Given the description of an element on the screen output the (x, y) to click on. 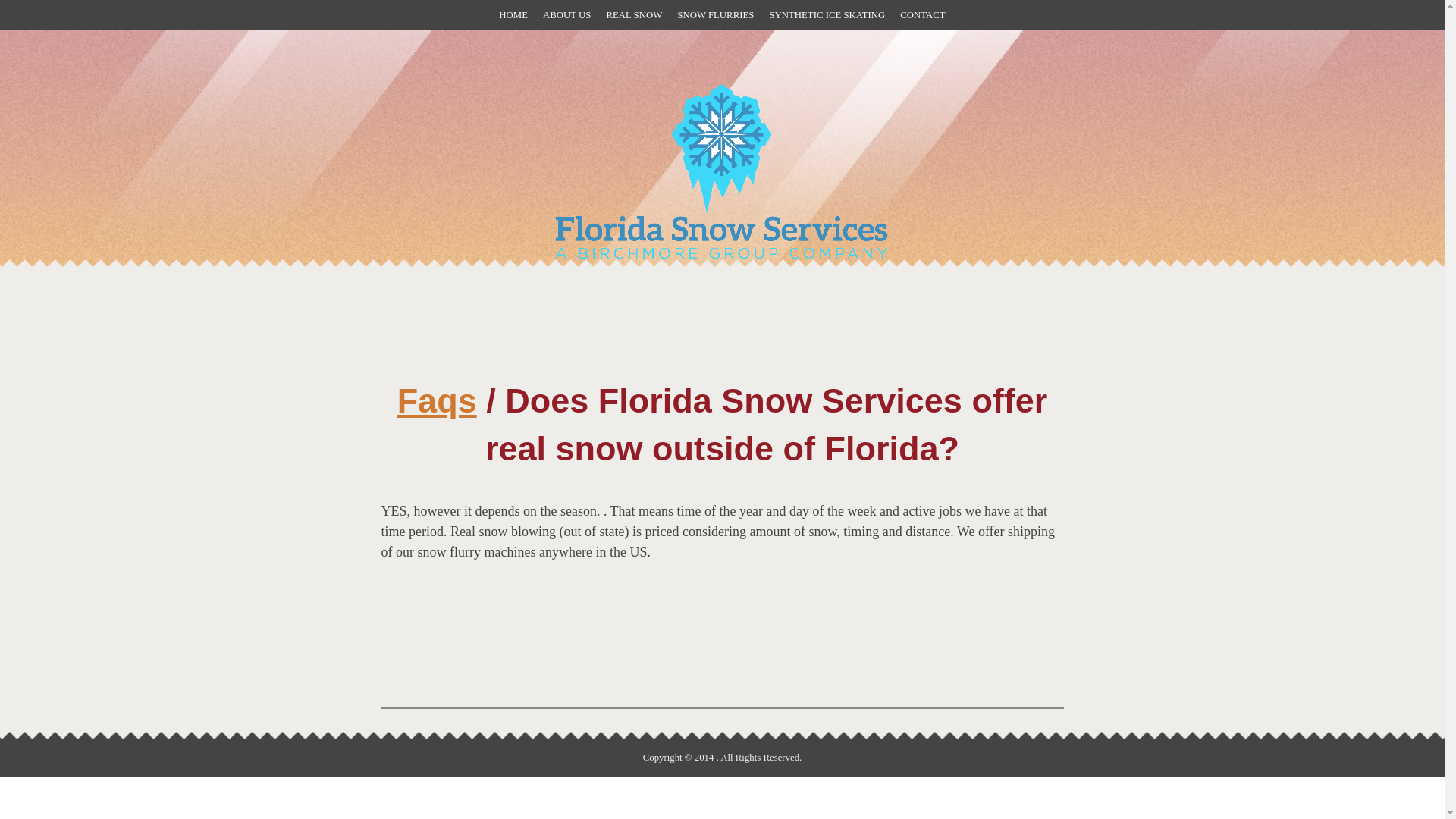
ABOUT US (567, 15)
HOME (513, 15)
Faqs (437, 400)
SYNTHETIC ICE SKATING (826, 15)
REAL SNOW (633, 15)
CONTACT (921, 15)
SNOW FLURRIES (715, 15)
